Given the description of an element on the screen output the (x, y) to click on. 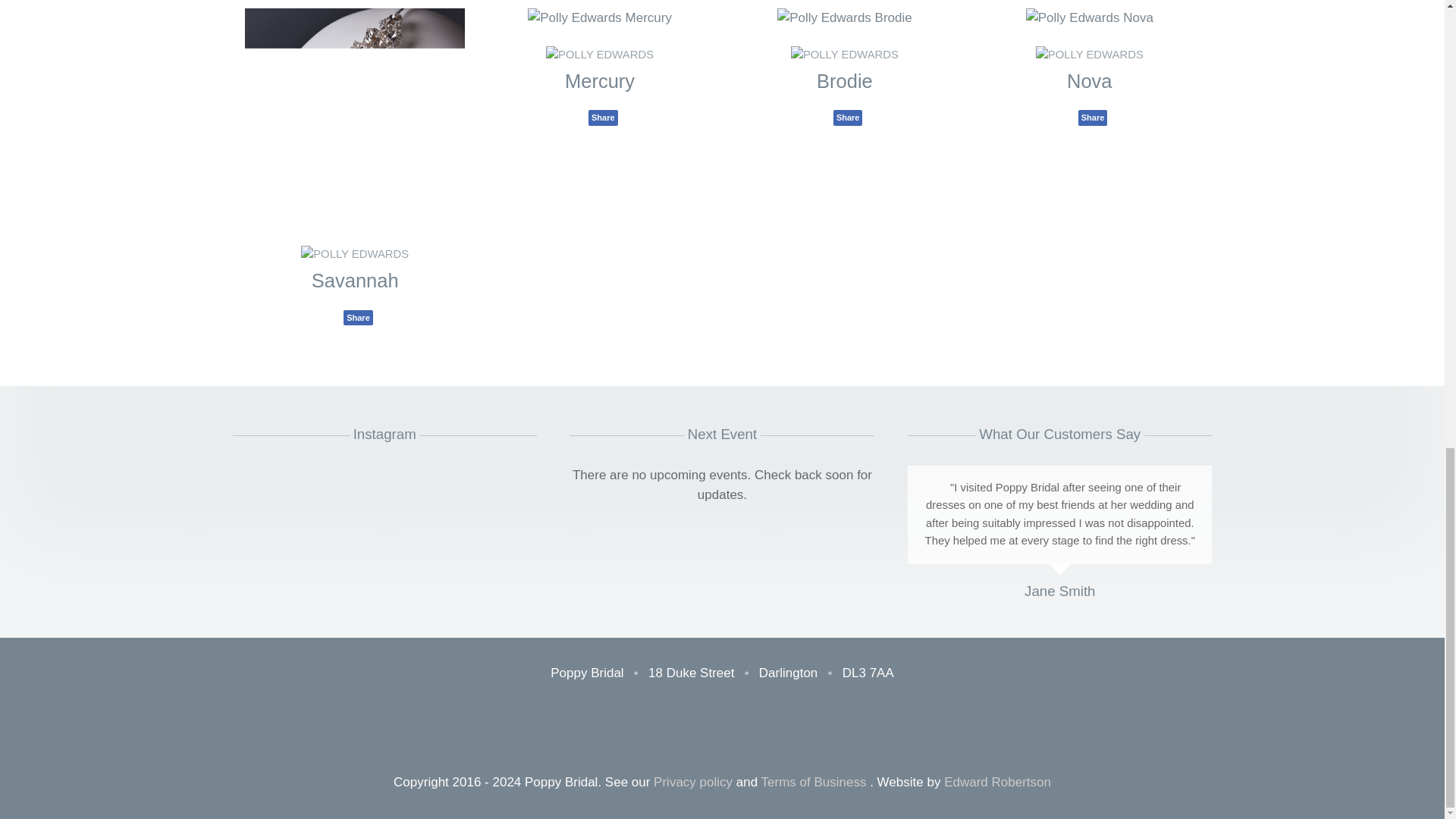
Brodie (844, 80)
Share (602, 117)
Savannah (354, 280)
Share (357, 317)
Mercury (599, 80)
